Given the description of an element on the screen output the (x, y) to click on. 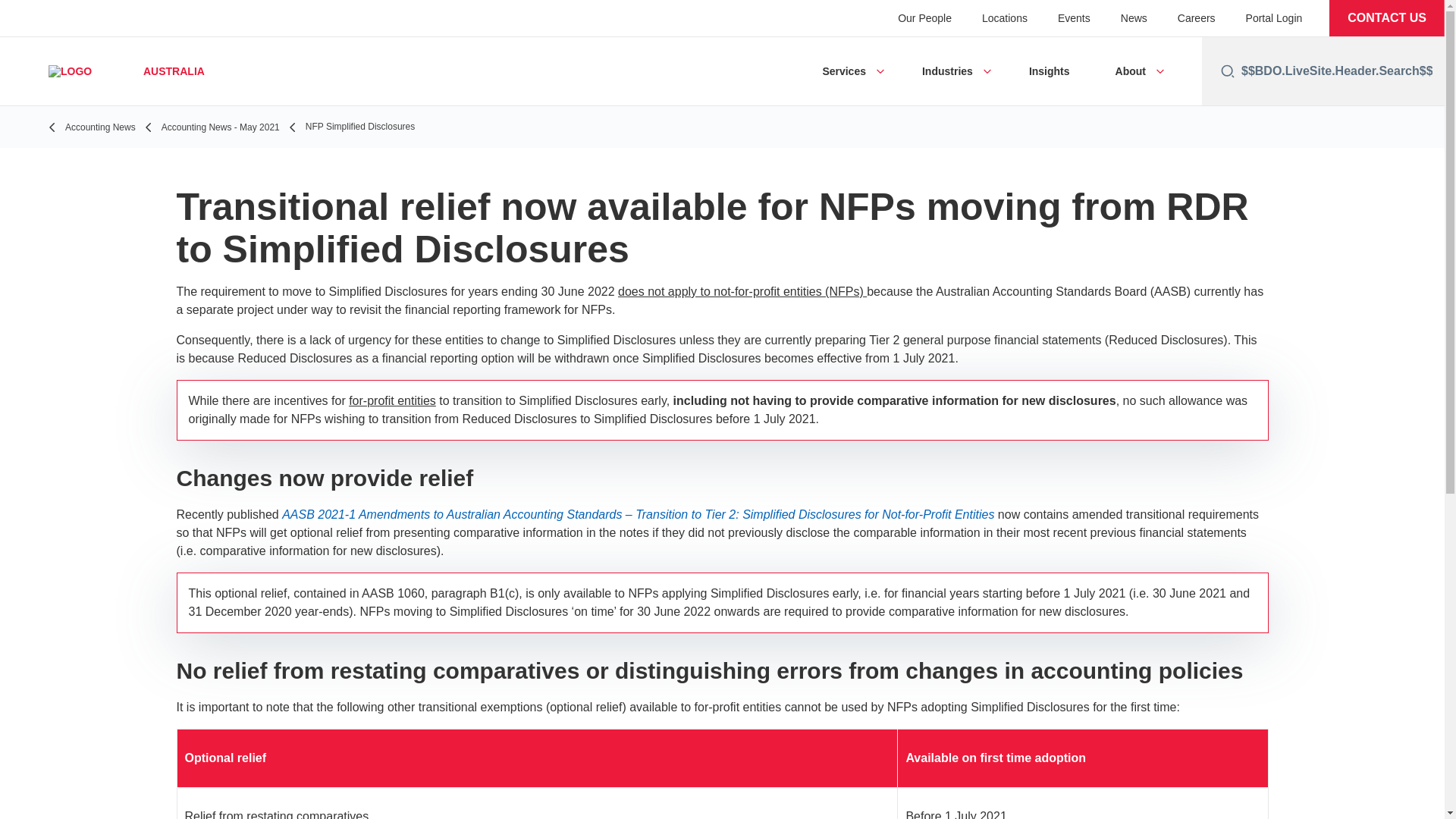
Locations (1004, 18)
Careers (1196, 18)
AUSTRALIA (117, 70)
Events (1074, 18)
Our People (925, 18)
Services (844, 71)
Portal Login (1274, 18)
News (1134, 18)
Industries (946, 71)
